Given the description of an element on the screen output the (x, y) to click on. 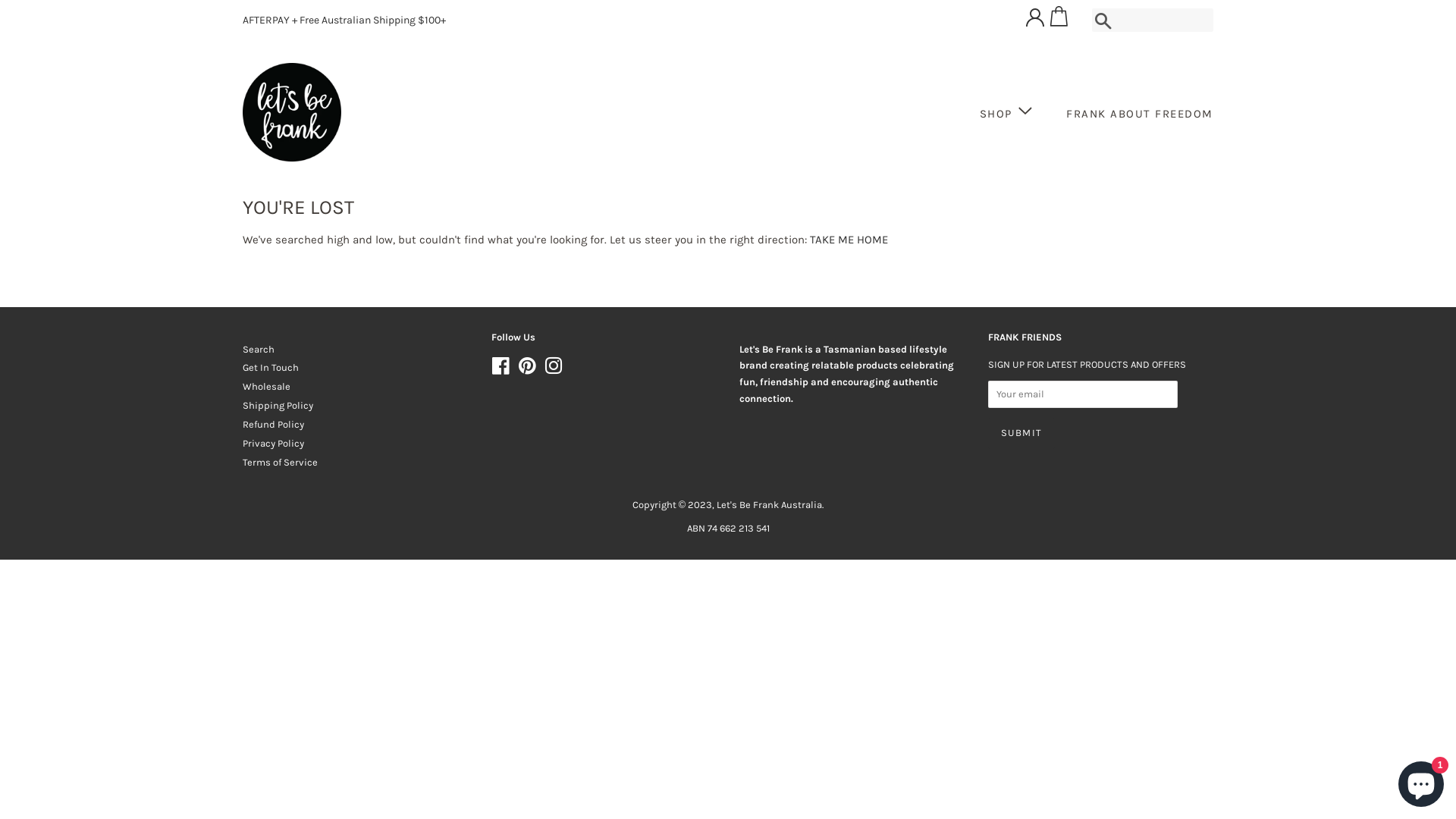
FRANK ABOUT FREEDOM Element type: text (1133, 114)
SHOP Element type: text (1015, 112)
Facebook Element type: text (500, 369)
SUBMIT Element type: text (1020, 432)
Refund Policy Element type: text (273, 423)
Get In Touch Element type: text (270, 367)
Shipping Policy Element type: text (277, 405)
Pinterest Element type: text (526, 369)
Let's Be Frank Australia Element type: text (769, 504)
Facebook Element type: text (967, 21)
Terms of Service Element type: text (279, 461)
Instagram Element type: text (991, 21)
Search Element type: text (258, 348)
Shopify online store chat Element type: hover (1420, 780)
Wholesale Element type: text (266, 386)
TAKE ME HOME Element type: text (848, 239)
Instagram Element type: text (553, 369)
Privacy Policy Element type: text (273, 442)
